Given the description of an element on the screen output the (x, y) to click on. 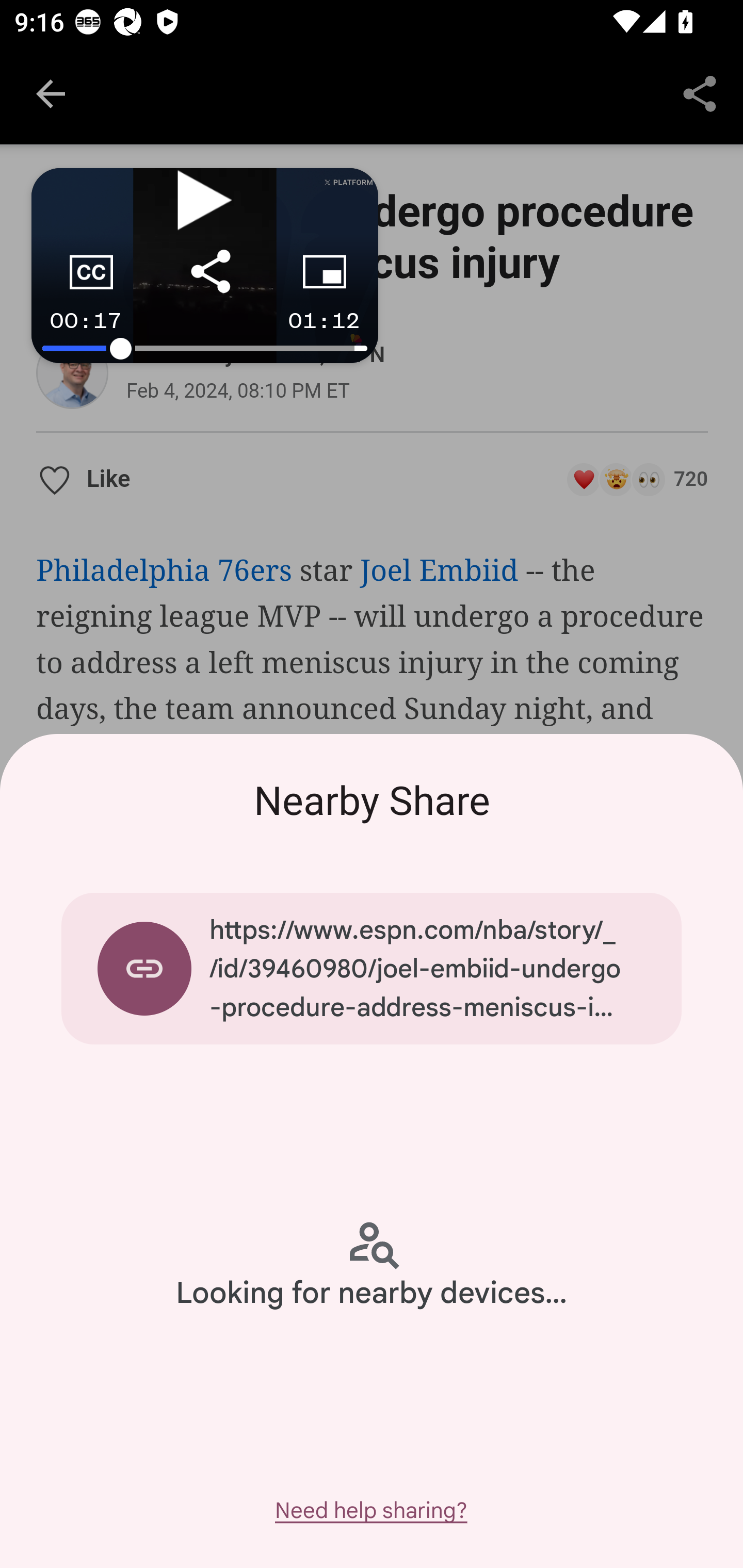
Need help sharing? (370, 1510)
